Given the description of an element on the screen output the (x, y) to click on. 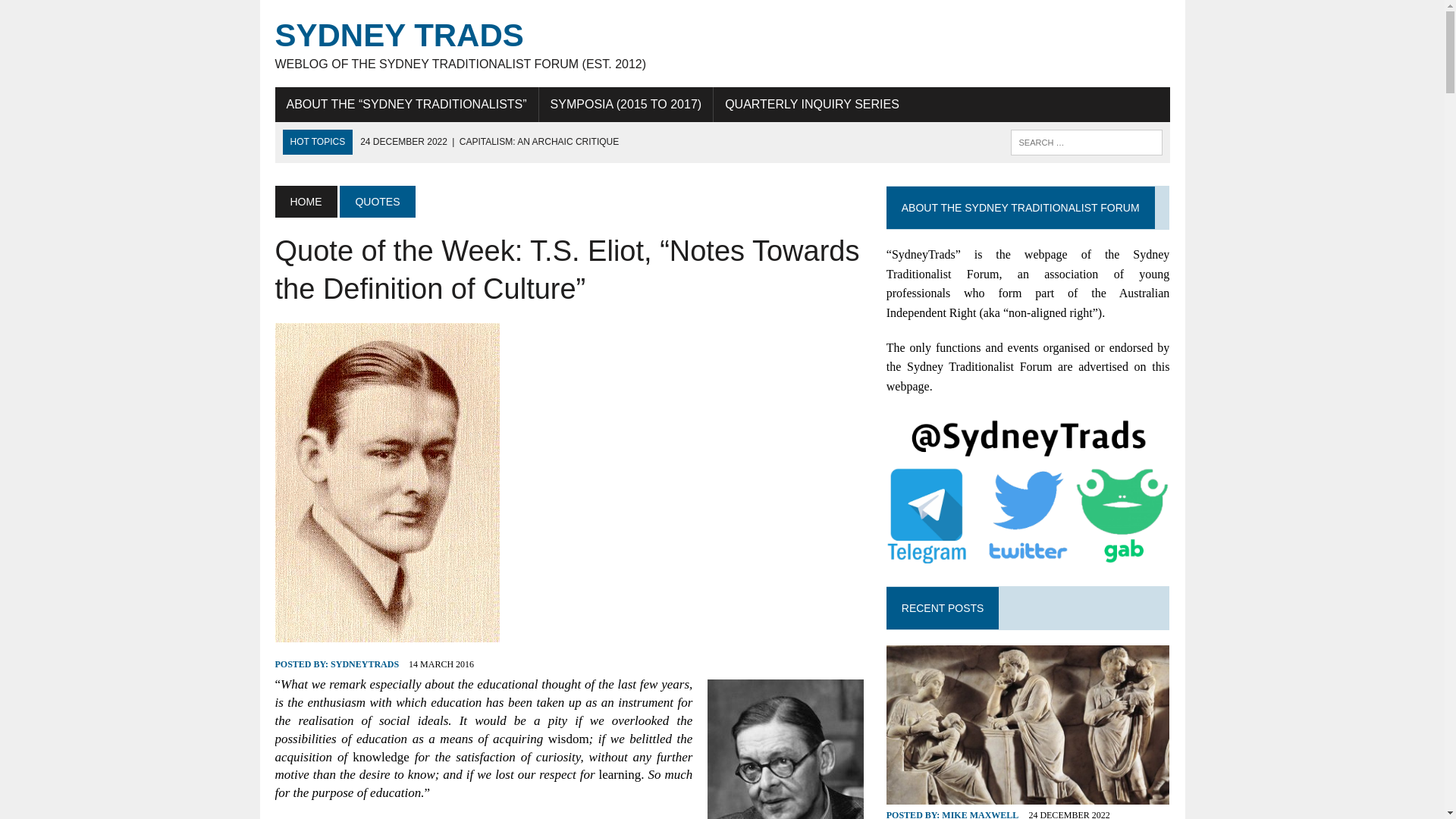
QUARTERLY INQUIRY SERIES (812, 104)
Sydney Trads (722, 43)
Search (75, 14)
HOME (305, 201)
QUOTES (376, 201)
Capitalism: An Archaic Critique (488, 141)
SYDNEYTRADS (364, 664)
